Given the description of an element on the screen output the (x, y) to click on. 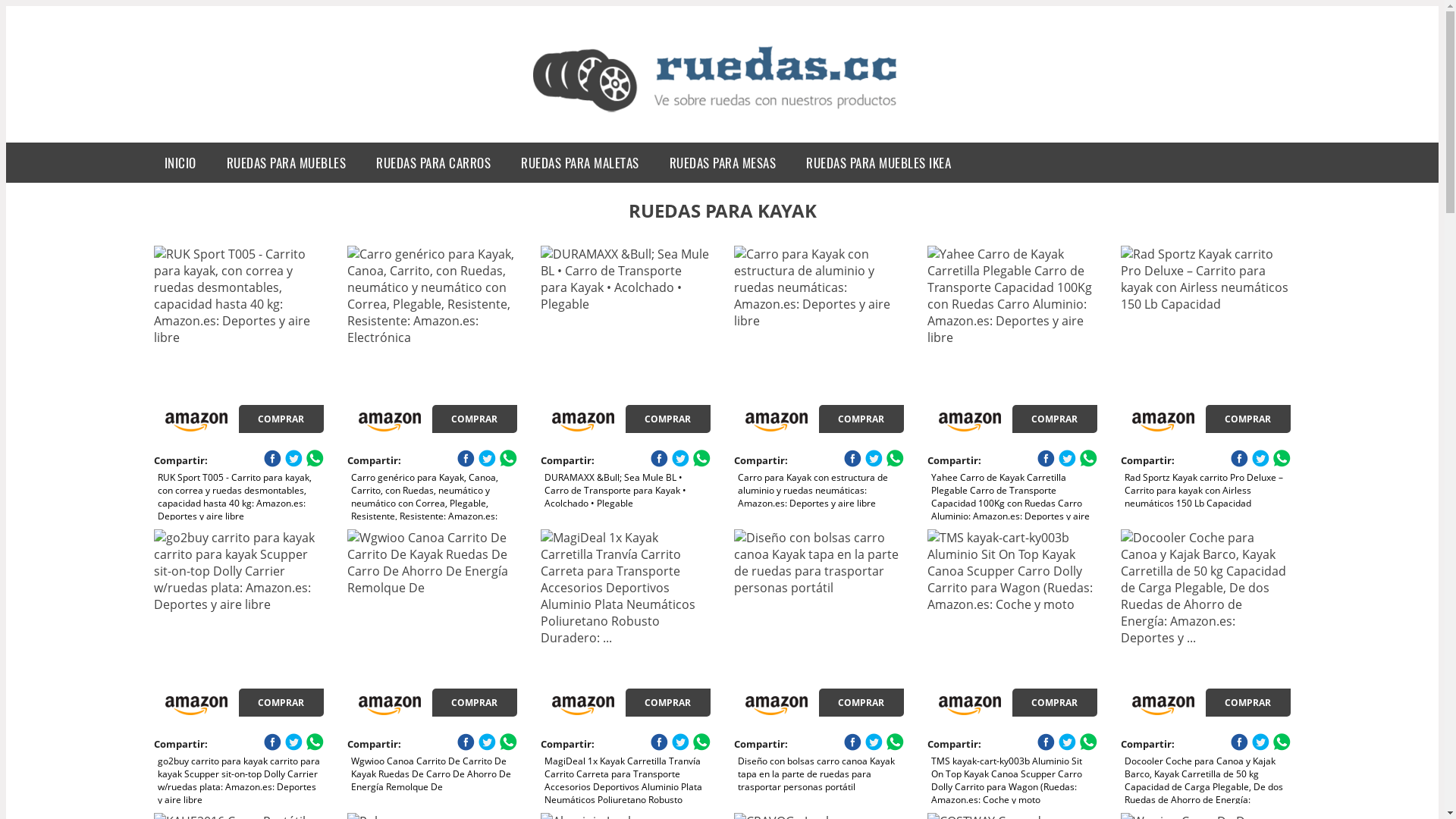
Inicio Element type: hover (721, 80)
COMPRAR Element type: text (861, 702)
COMPRAR Element type: text (1247, 418)
COMPRAR Element type: text (1054, 418)
COMPRAR Element type: text (1247, 702)
RUEDAS PARA MESAS Element type: text (722, 162)
RUEDAS PARA CARROS Element type: text (432, 162)
COMPRAR Element type: text (280, 702)
RUEDAS PARA MUEBLES IKEA Element type: text (878, 162)
COMPRAR Element type: text (667, 418)
INICIO Element type: text (180, 162)
COMPRAR Element type: text (861, 418)
COMPRAR Element type: text (474, 418)
COMPRAR Element type: text (667, 702)
COMPRAR Element type: text (1054, 702)
RUEDAS PARA MALETAS Element type: text (579, 162)
COMPRAR Element type: text (280, 418)
COMPRAR Element type: text (474, 702)
RUEDAS PARA MUEBLES Element type: text (286, 162)
